Given the description of an element on the screen output the (x, y) to click on. 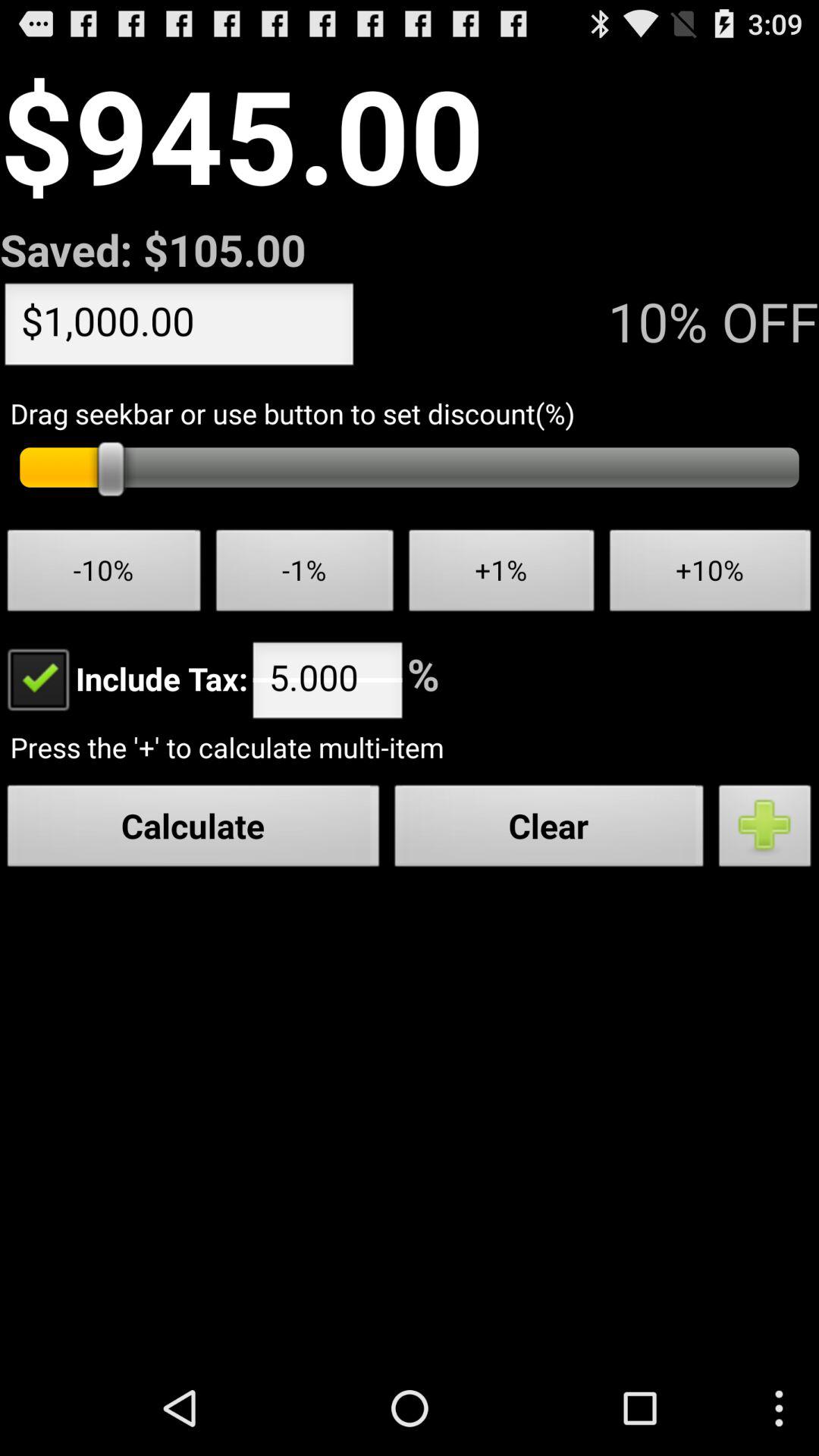
press the item above drag seekbar or (179, 327)
